Given the description of an element on the screen output the (x, y) to click on. 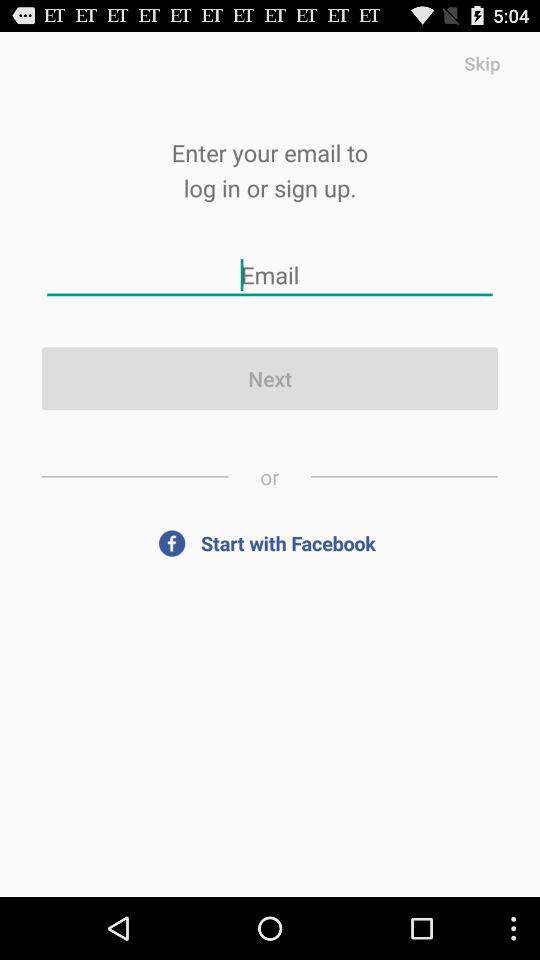
jump until the next item (269, 377)
